Given the description of an element on the screen output the (x, y) to click on. 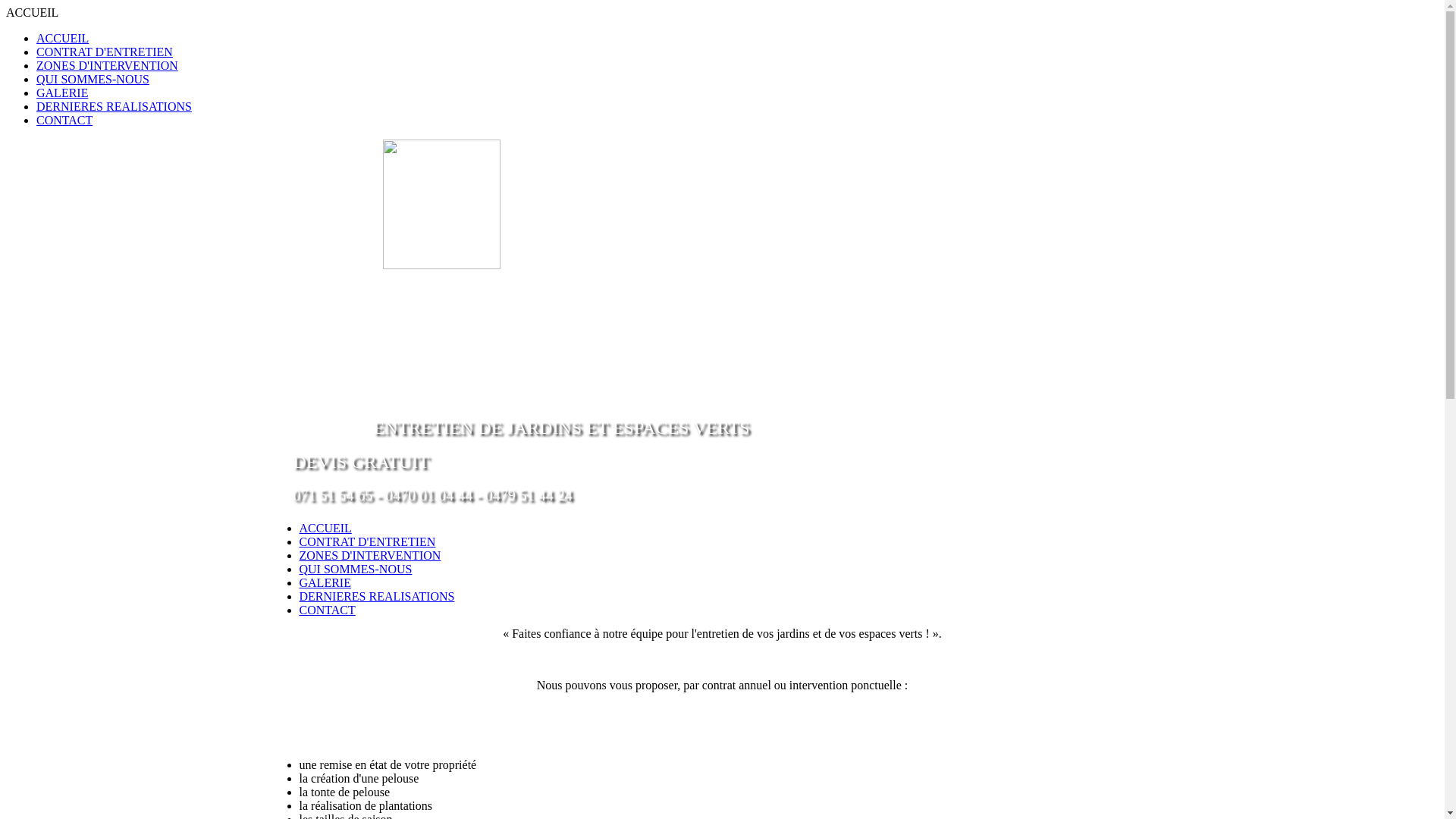
GALERIE Element type: text (61, 92)
DERNIERES REALISATIONS Element type: text (376, 595)
CONTRAT D'ENTRETIEN Element type: text (104, 51)
ZONES D'INTERVENTION Element type: text (369, 555)
CONTACT Element type: text (64, 119)
ACCUEIL Element type: text (62, 37)
QUI SOMMES-NOUS Element type: text (354, 568)
GALERIE Element type: text (324, 582)
ACCUEIL Element type: text (324, 527)
QUI SOMMES-NOUS Element type: text (92, 78)
DERNIERES REALISATIONS Element type: text (113, 106)
CONTRAT D'ENTRETIEN Element type: text (366, 541)
ZONES D'INTERVENTION Element type: text (107, 65)
CONTACT Element type: text (326, 609)
